Given the description of an element on the screen output the (x, y) to click on. 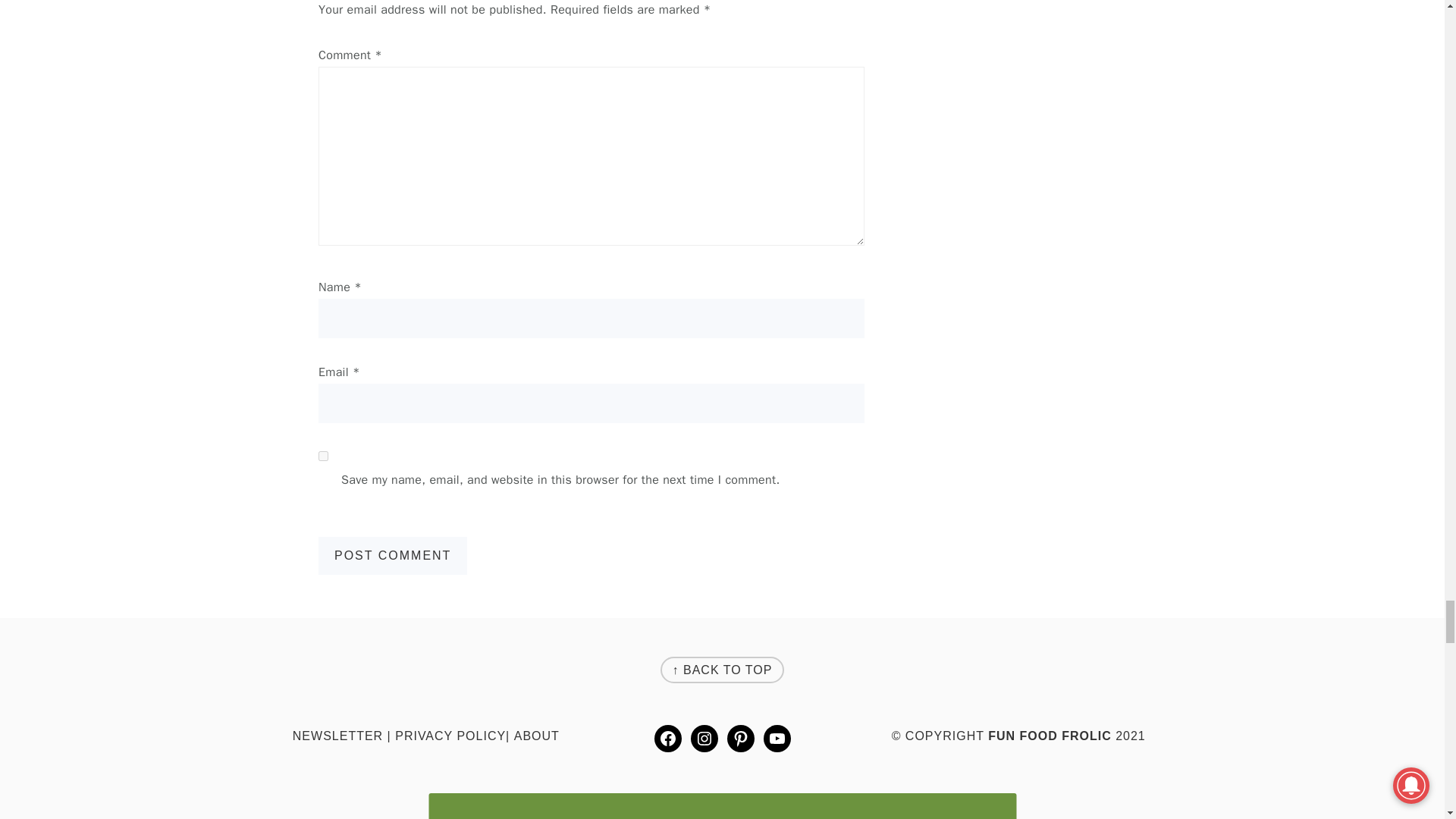
Post Comment (392, 555)
yes (323, 456)
